Given the description of an element on the screen output the (x, y) to click on. 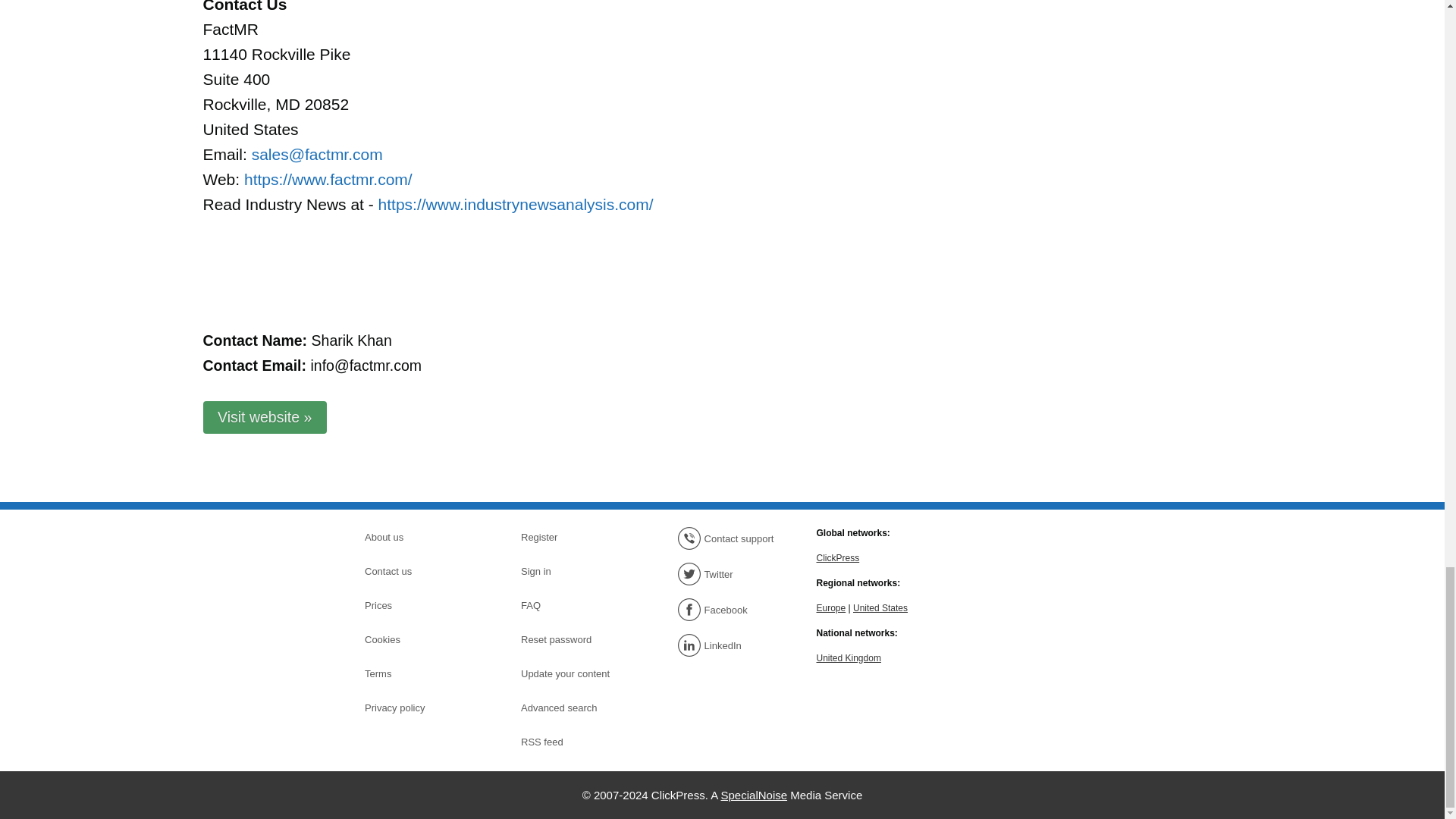
Privacy policy (417, 707)
Register (574, 537)
Twitter (730, 573)
RSS feed (574, 742)
Sign in (574, 571)
Reset password (574, 639)
Advanced search (574, 707)
Update your content (574, 673)
ClickPress (837, 557)
Terms (417, 673)
Europe (830, 606)
Contact support (730, 538)
Cookies (417, 639)
Prices (417, 605)
Facebook (730, 609)
